Given the description of an element on the screen output the (x, y) to click on. 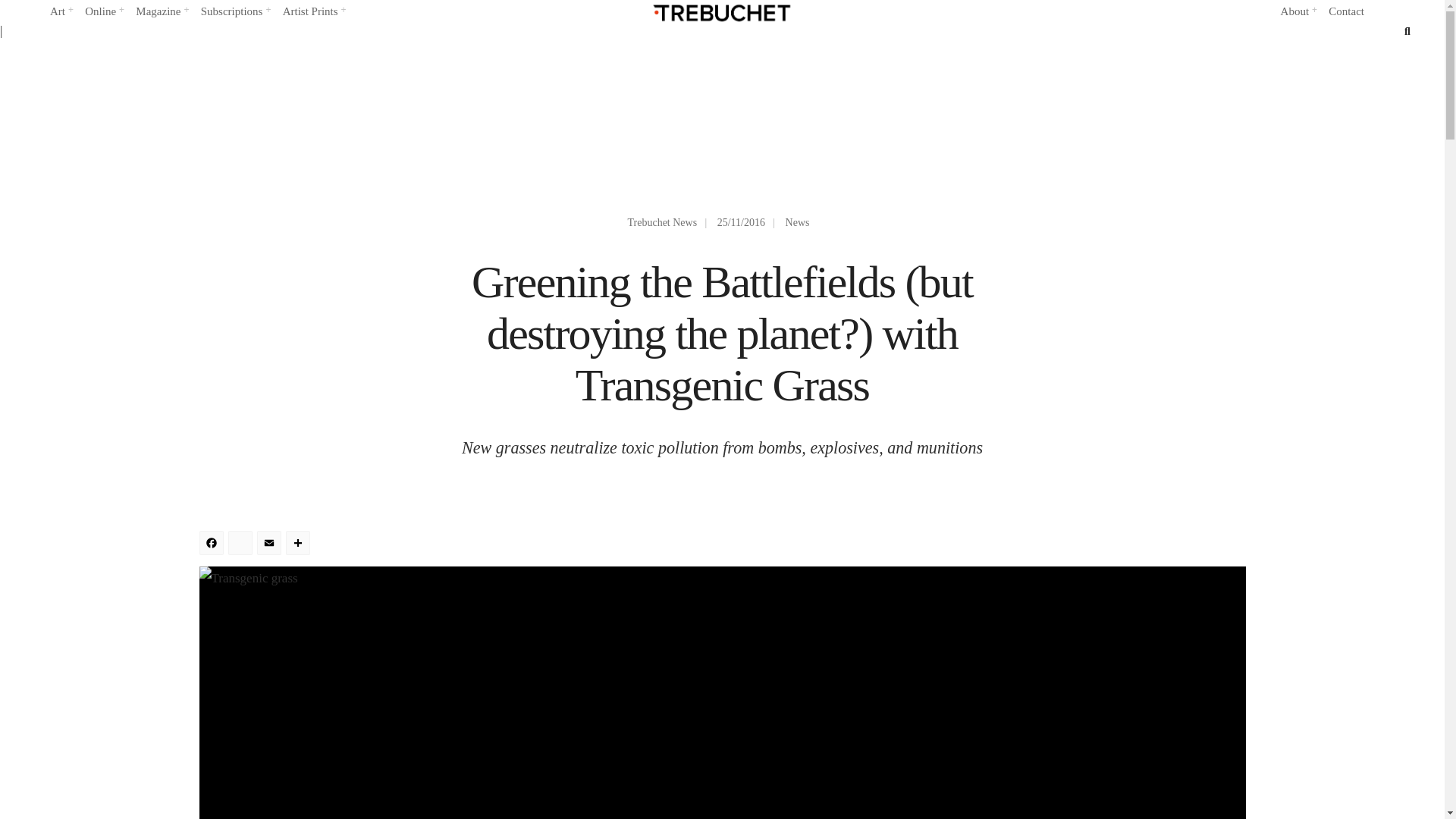
Email (270, 544)
Magazine (161, 11)
Art (61, 11)
Artist Prints (314, 11)
Mastodon (241, 544)
Facebook (212, 544)
Art (61, 11)
Subscriptions (235, 11)
Posts by Trebuchet News (662, 222)
Online (104, 11)
